Given the description of an element on the screen output the (x, y) to click on. 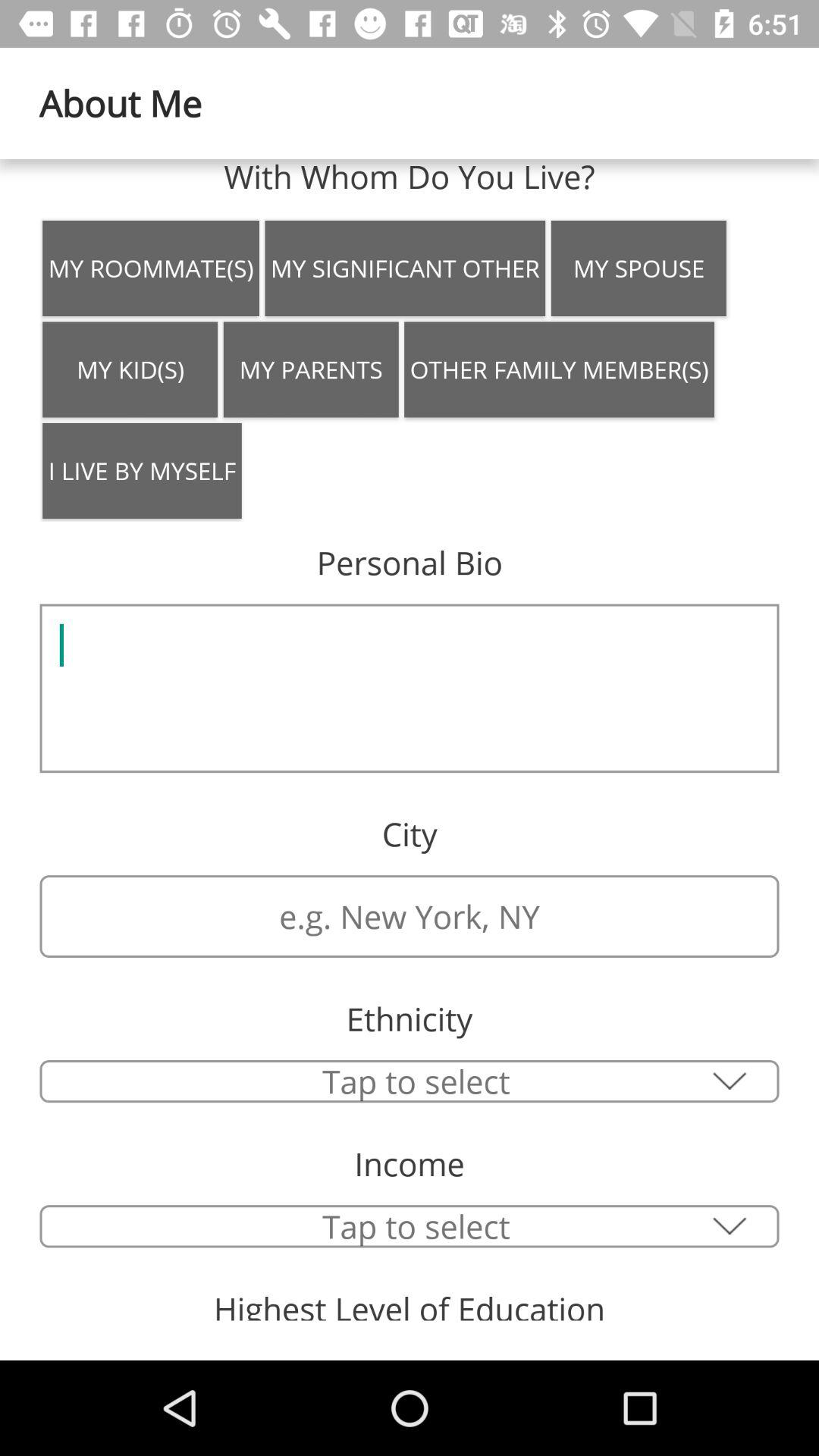
open the icon next to the my kid(s) item (310, 369)
